Given the description of an element on the screen output the (x, y) to click on. 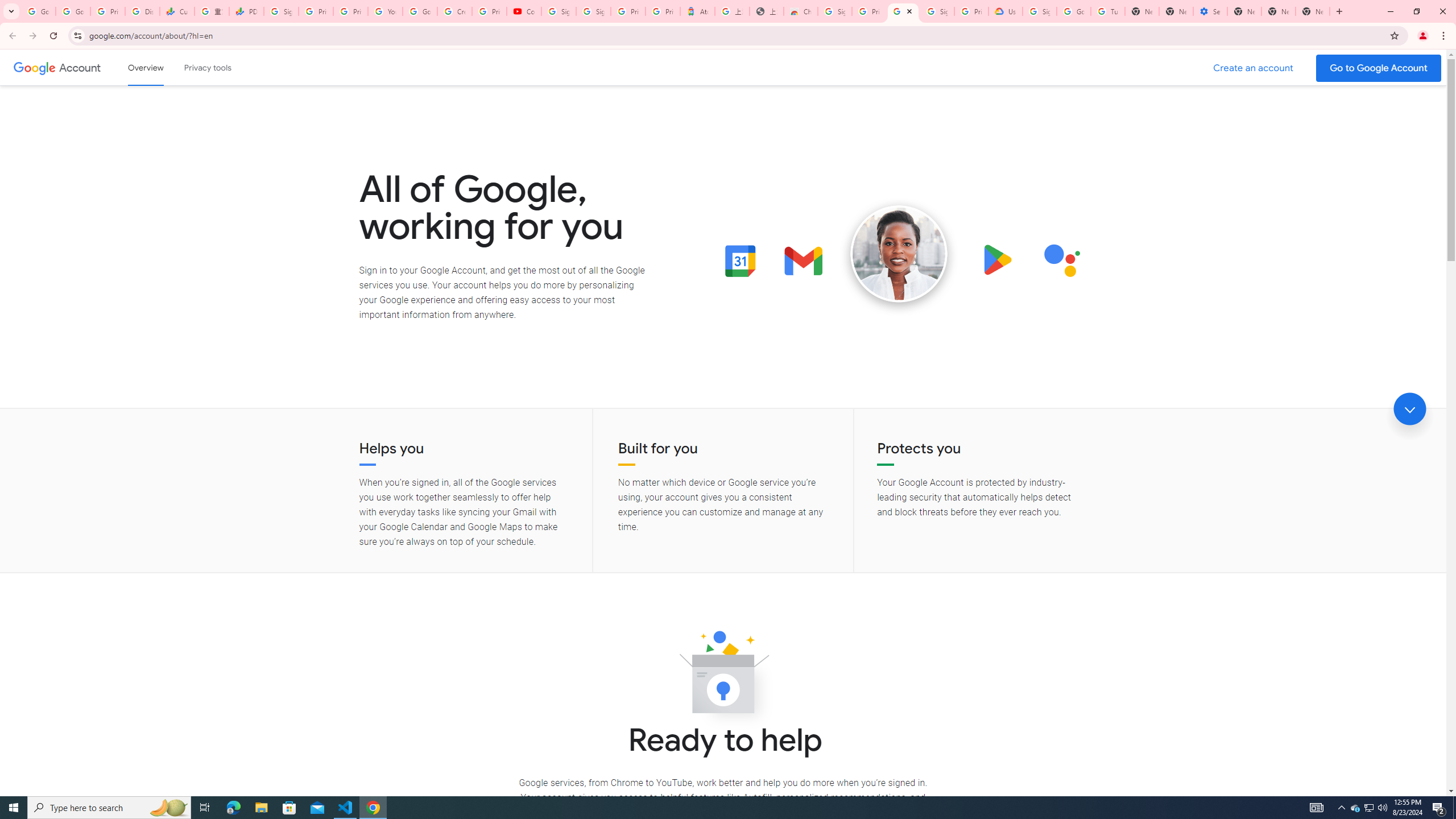
Chrome Web Store - Color themes by Chrome (800, 11)
Google Account Help (1073, 11)
Atour Hotel - Google hotels (697, 11)
Google Account Help (419, 11)
Sign in - Google Accounts (592, 11)
